Given the description of an element on the screen output the (x, y) to click on. 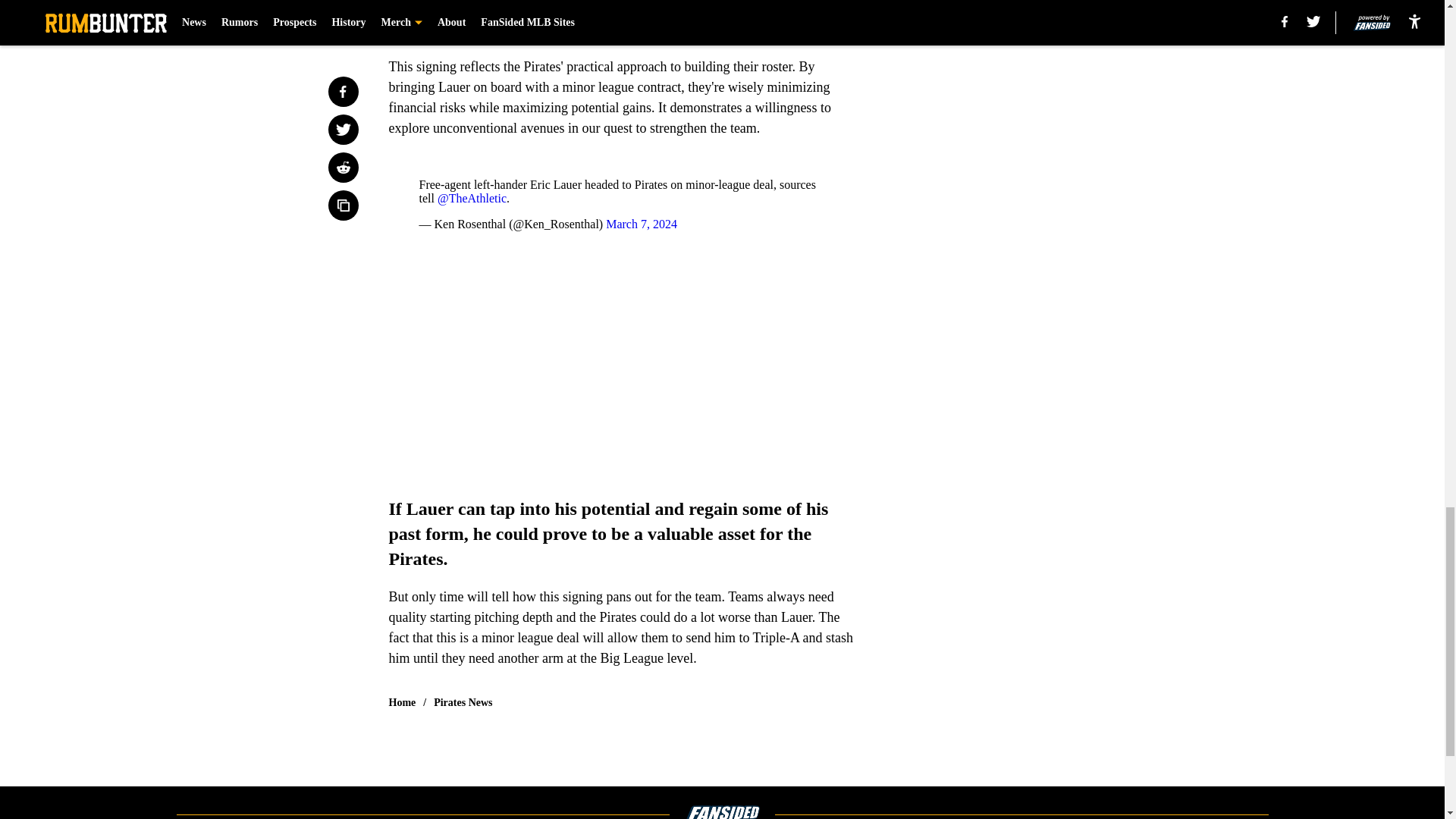
Pirates News (462, 702)
Home (401, 702)
March 7, 2024 (641, 223)
